Given the description of an element on the screen output the (x, y) to click on. 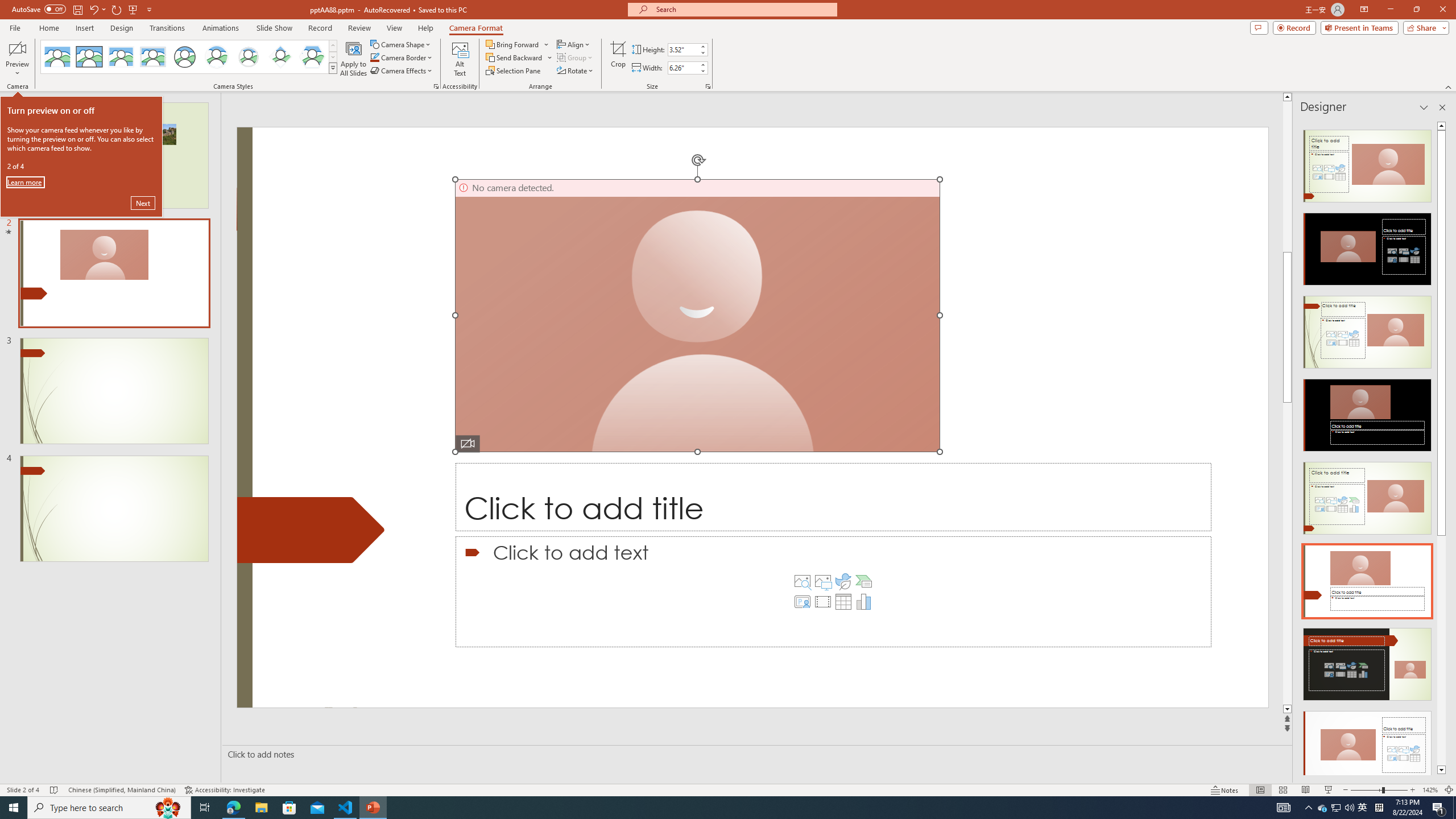
Center Shadow Circle (216, 56)
Camera Border (401, 56)
Cameo Width (682, 67)
Camera Shape (400, 44)
Center Shadow Diamond (280, 56)
